Given the description of an element on the screen output the (x, y) to click on. 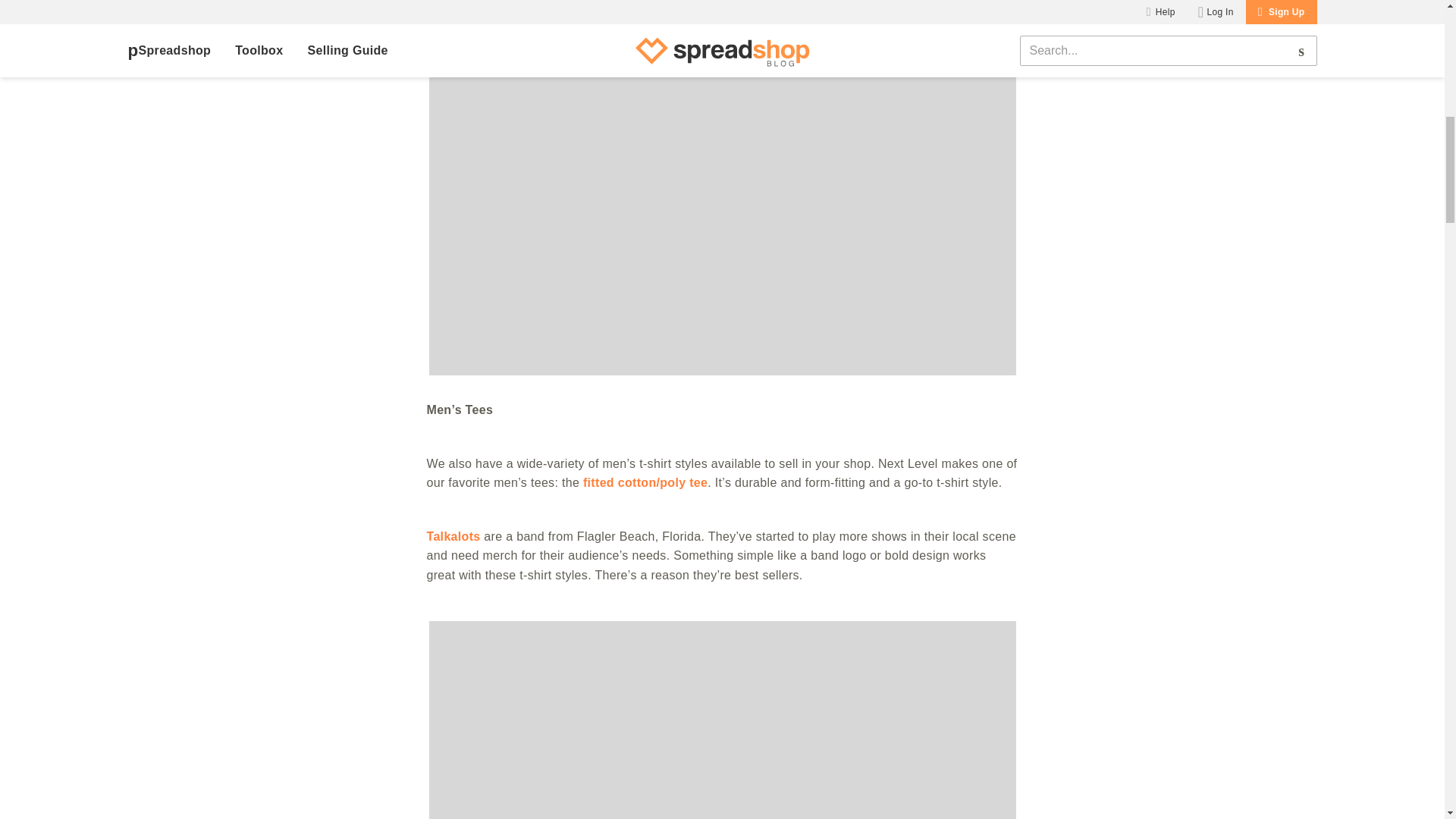
Talkalots (453, 535)
